Given the description of an element on the screen output the (x, y) to click on. 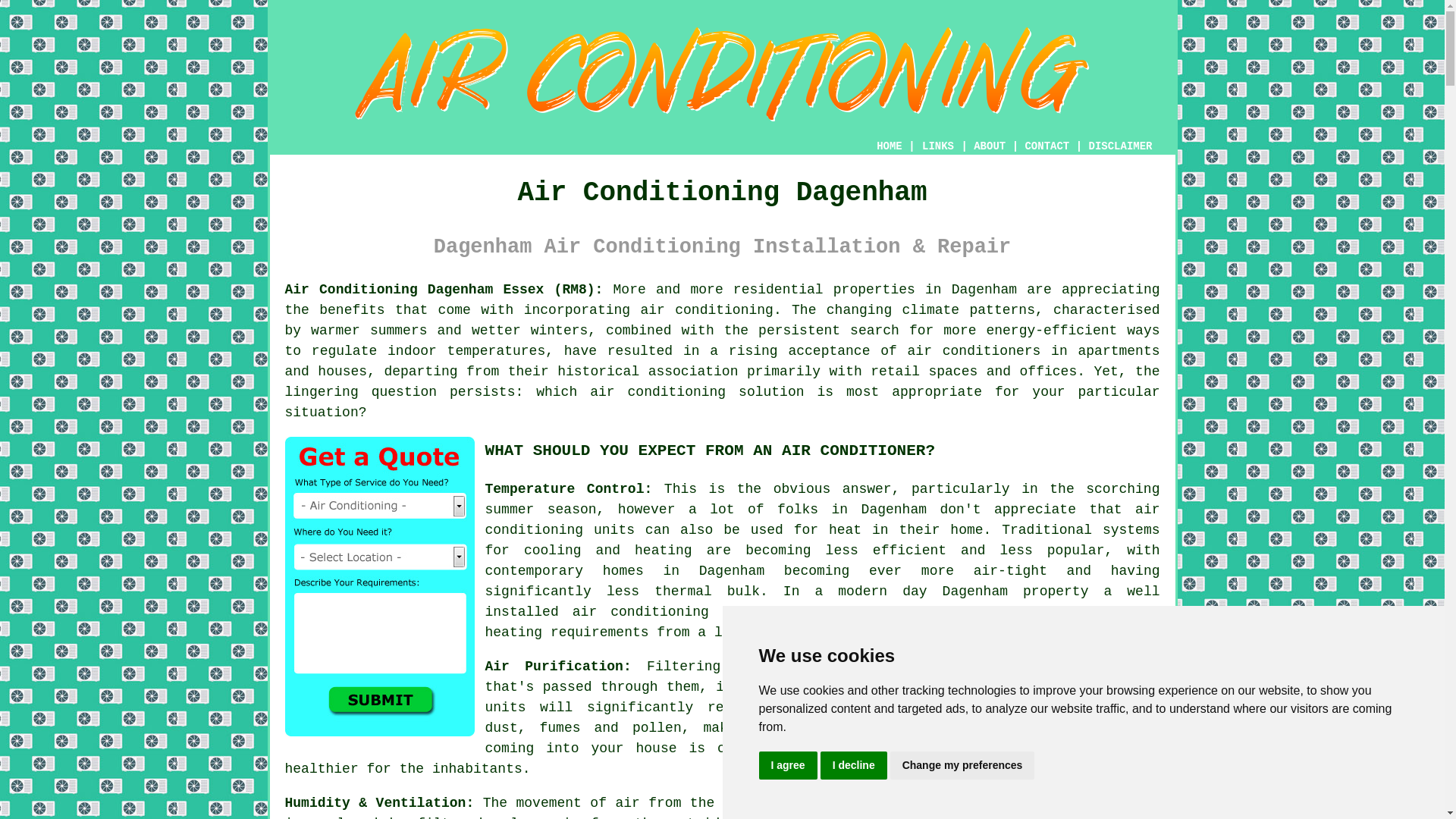
LINKS (938, 146)
I decline (853, 765)
Air Conditioning Dagenham (722, 74)
HOME (889, 146)
installed air conditioning system (627, 611)
Change my preferences (962, 765)
air conditioning solution (696, 391)
I agree (787, 765)
air conditioning (706, 309)
